Given the description of an element on the screen output the (x, y) to click on. 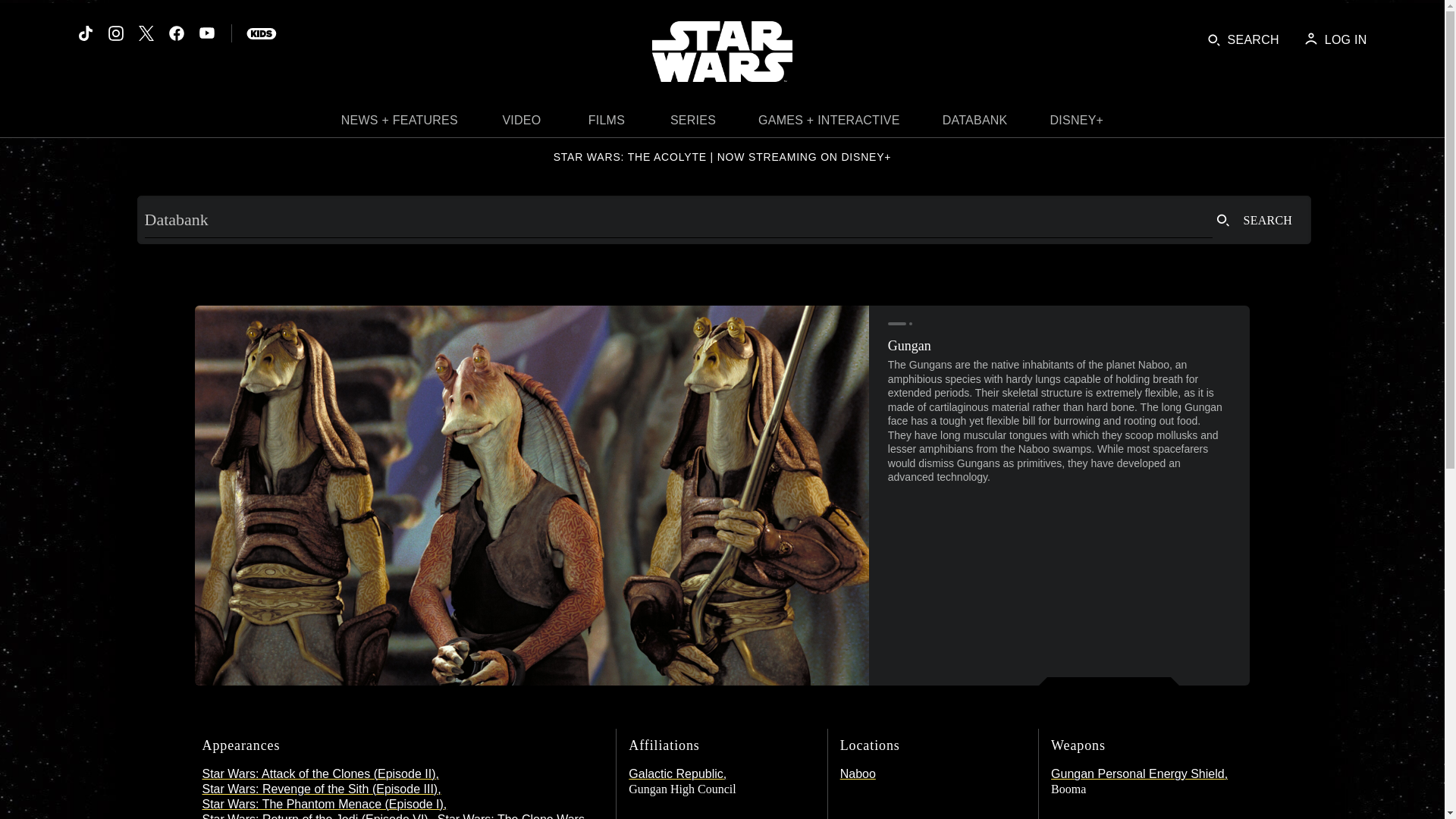
FILMS (606, 123)
LOG IN (1334, 40)
Search (1254, 220)
Facebook (175, 32)
VIDEO (521, 123)
YouTube (206, 32)
Twitter (145, 32)
DATABANK (975, 123)
Instagram (114, 32)
SERIES (692, 123)
